Given the description of an element on the screen output the (x, y) to click on. 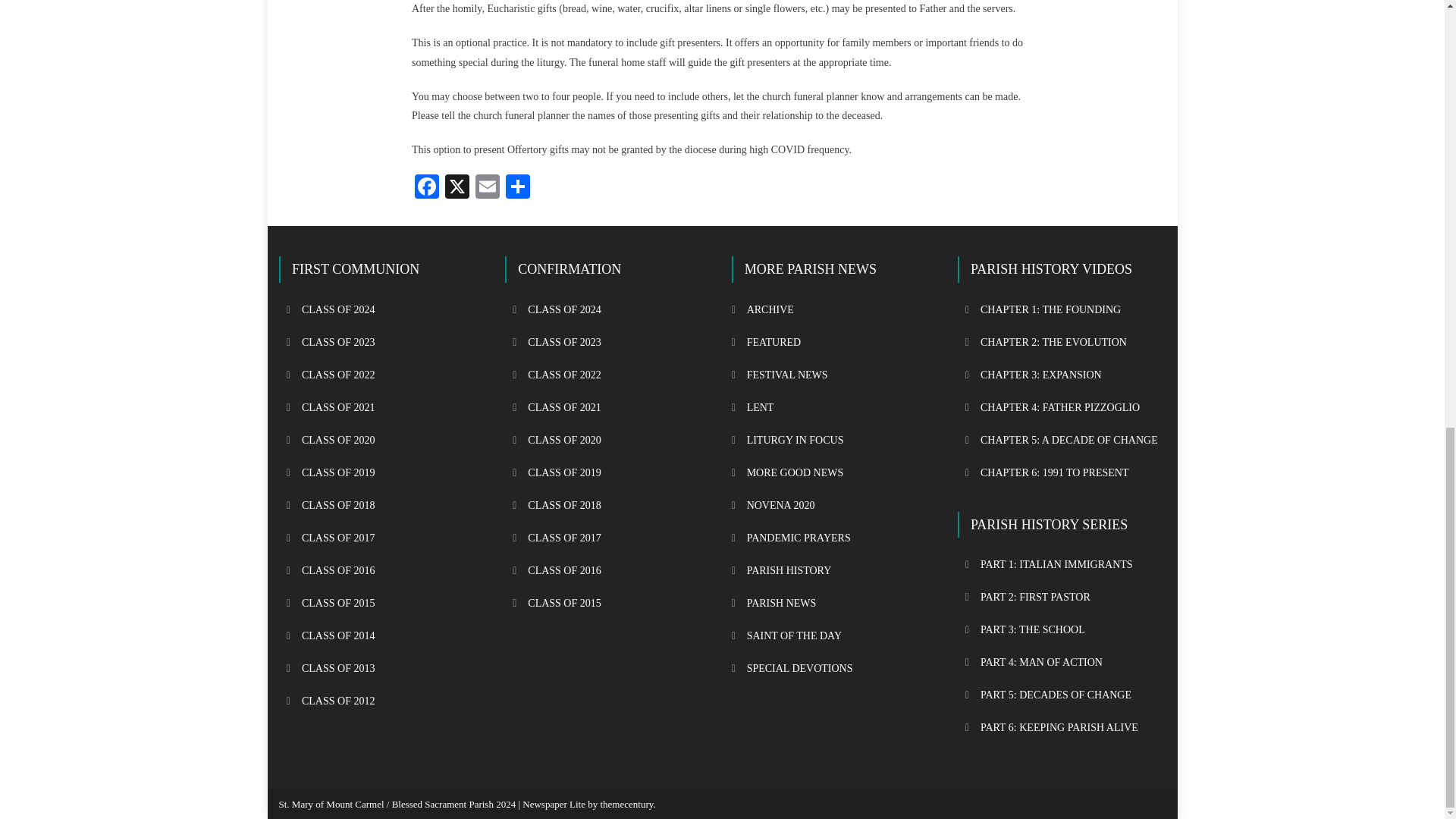
Email (486, 188)
X (456, 188)
Facebook (427, 188)
